Given the description of an element on the screen output the (x, y) to click on. 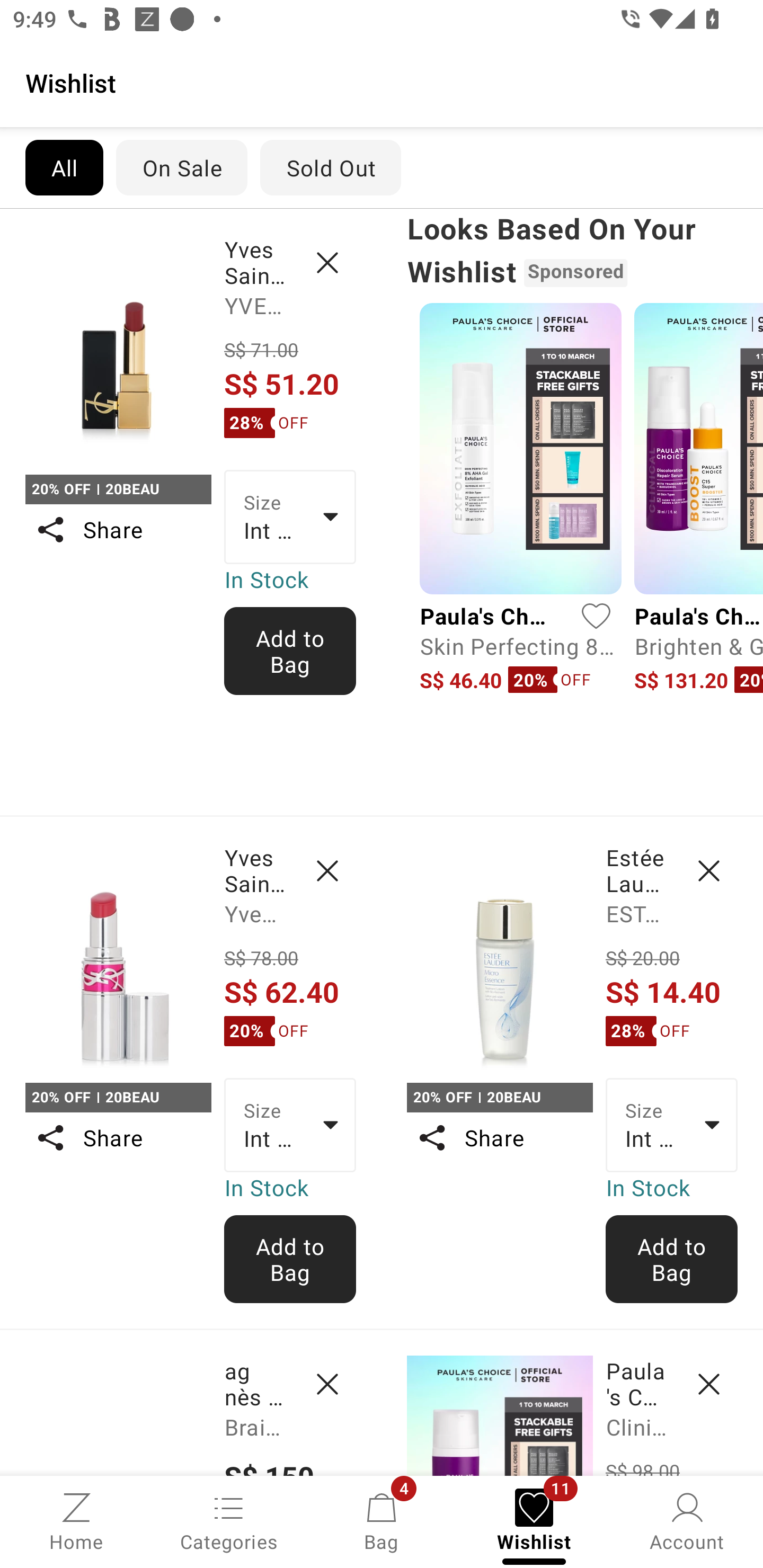
Wishlist (381, 82)
All (64, 167)
On Sale (181, 167)
Sold Out (330, 167)
Size Int One Size (290, 517)
Share (118, 529)
Add to Bag (290, 650)
Size Int One Size (290, 1125)
Size Int One Size (671, 1125)
Share (118, 1137)
Share (499, 1137)
Add to Bag (290, 1259)
Add to Bag (671, 1259)
Home (76, 1519)
Categories (228, 1519)
Bag, 4 new notifications Bag (381, 1519)
Account (686, 1519)
